Given the description of an element on the screen output the (x, y) to click on. 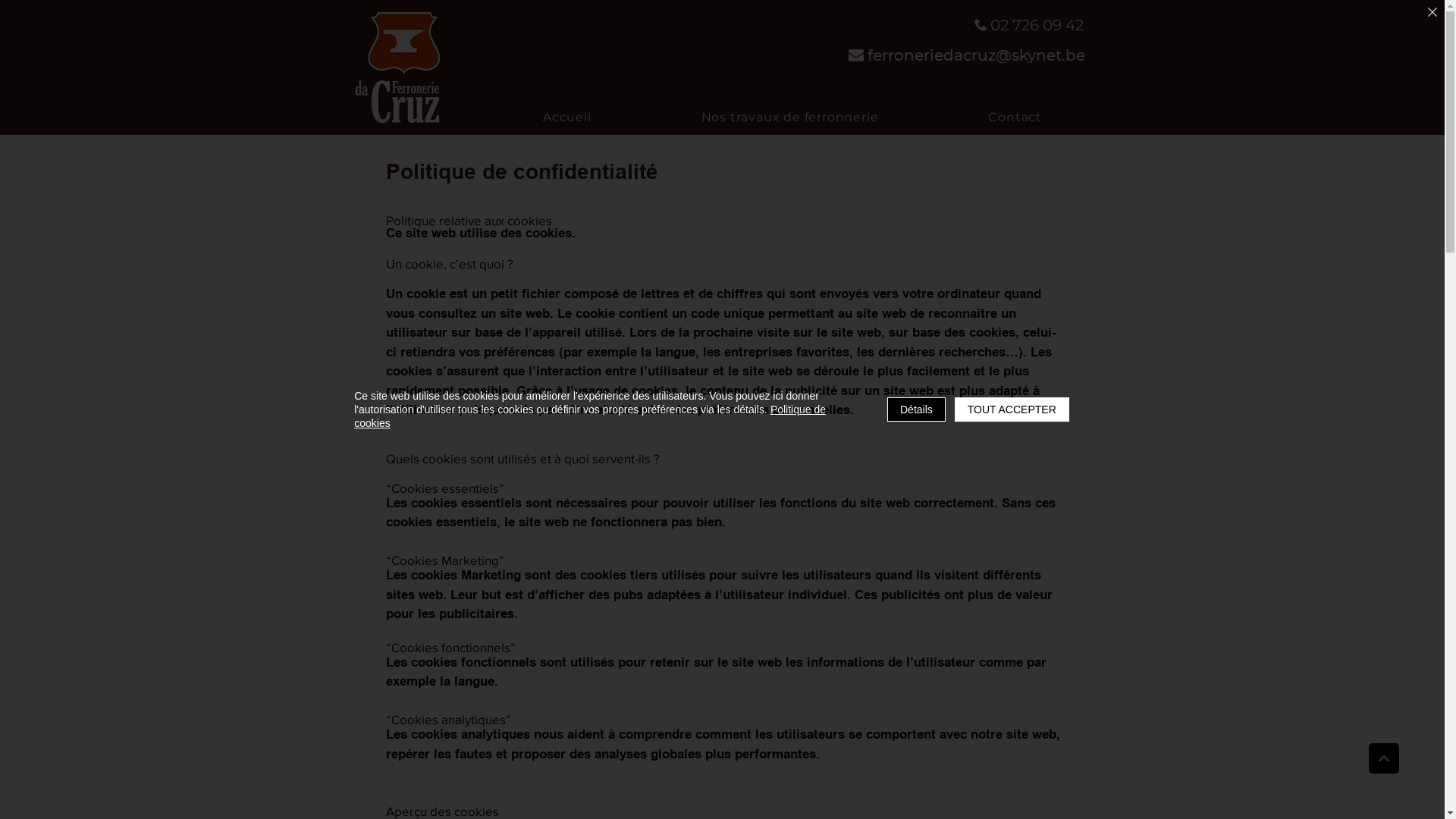
Nos travaux de ferronnerie Element type: text (789, 116)
ferroneriedacruz@skynet.be Element type: text (730, 116)
Ferronnerie Da Cruz Element type: hover (400, 66)
02 726 09 42 Element type: text (1029, 24)
Accueil Element type: text (567, 116)
Politique de cookies Element type: text (589, 416)
Contact Element type: text (1015, 116)
ferroneriedacruz@skynet.be Element type: text (967, 54)
TOUT ACCEPTER Element type: text (1011, 409)
